Given the description of an element on the screen output the (x, y) to click on. 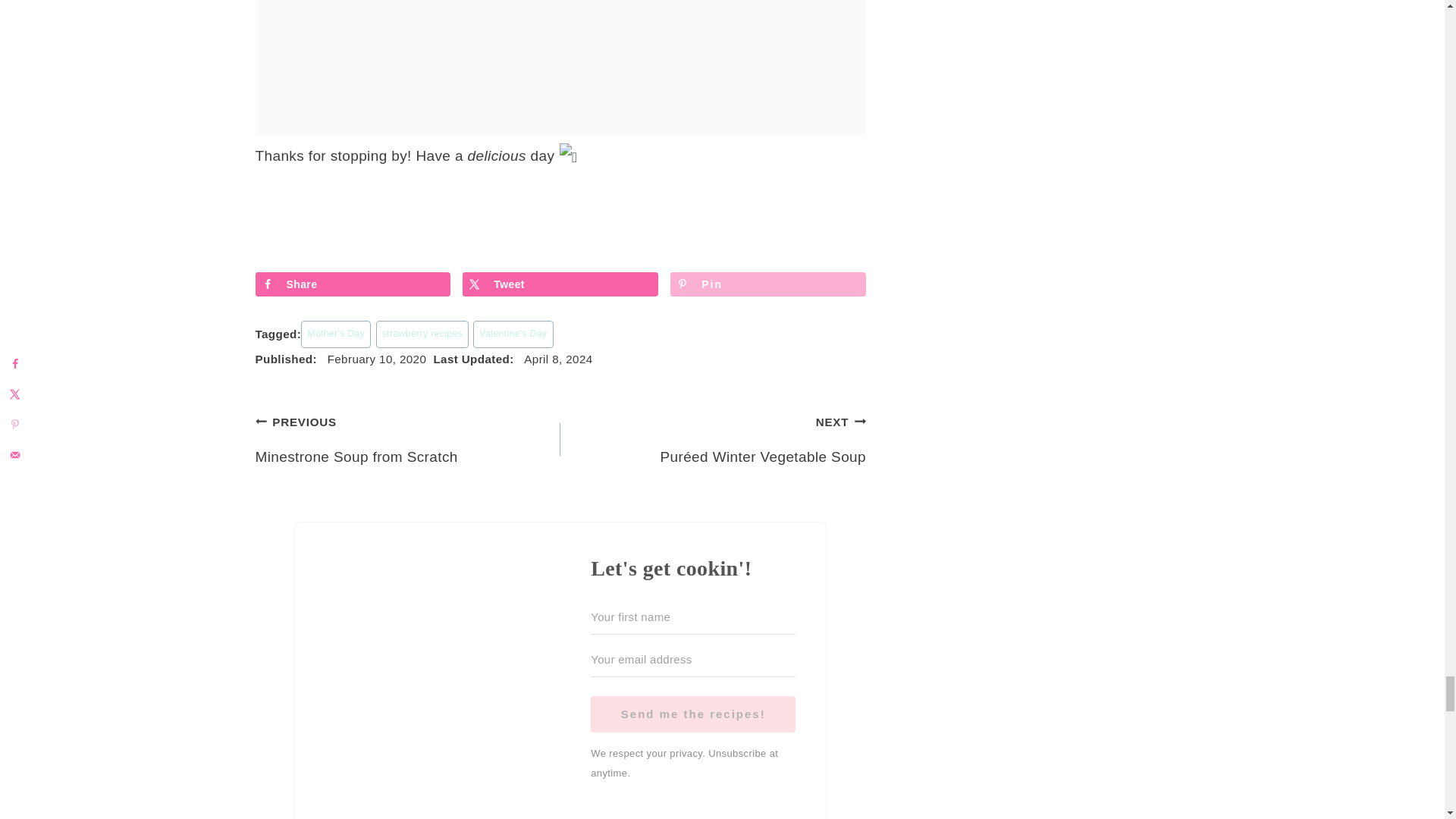
Mother's Day (336, 334)
Share on X (560, 283)
Valentine's Day (513, 334)
Share on Facebook (351, 283)
Save to Pinterest (767, 283)
strawberry recipes (421, 334)
